Given the description of an element on the screen output the (x, y) to click on. 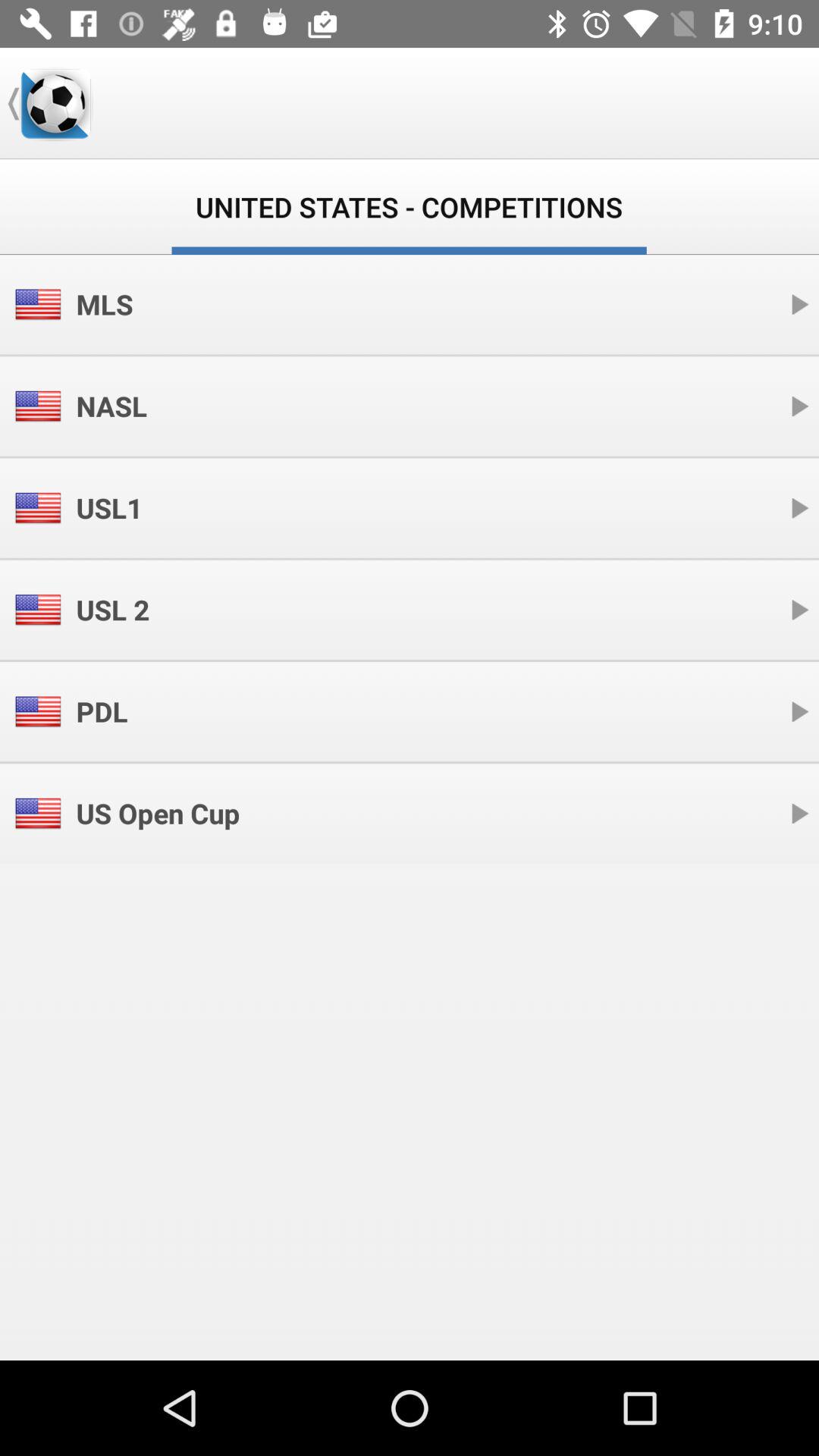
turn off mls (104, 304)
